Given the description of an element on the screen output the (x, y) to click on. 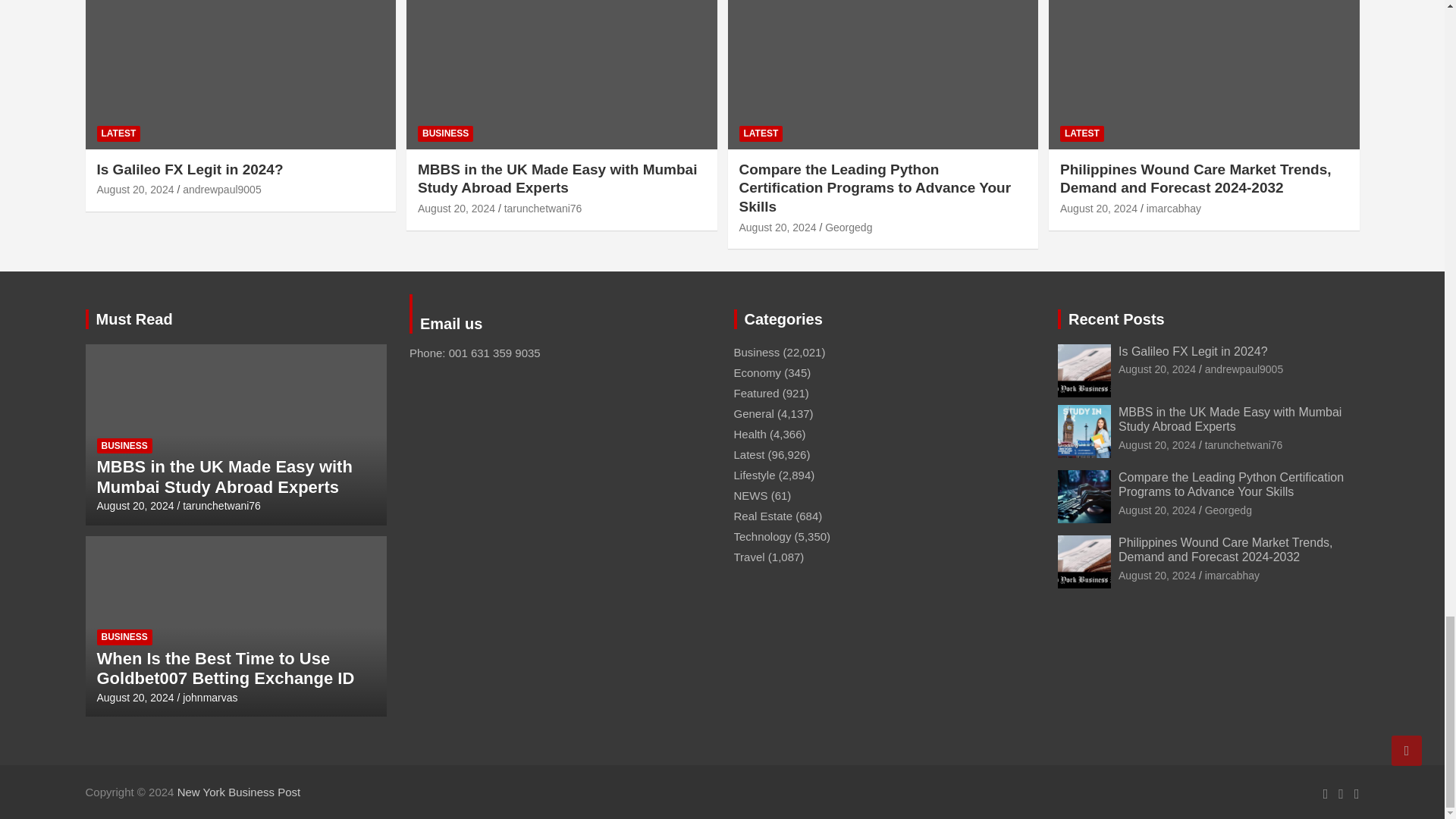
MBBS in the UK Made Easy with Mumbai Study Abroad Experts (456, 208)
Is Galileo FX Legit in 2024? (135, 189)
MBBS in the UK Made Easy with Mumbai Study Abroad Experts (135, 505)
MBBS in the UK Made Easy with Mumbai Study Abroad Experts (1156, 444)
When Is the Best Time to Use Goldbet007 Betting Exchange ID (135, 697)
Is Galileo FX Legit in 2024? (1156, 369)
